Given the description of an element on the screen output the (x, y) to click on. 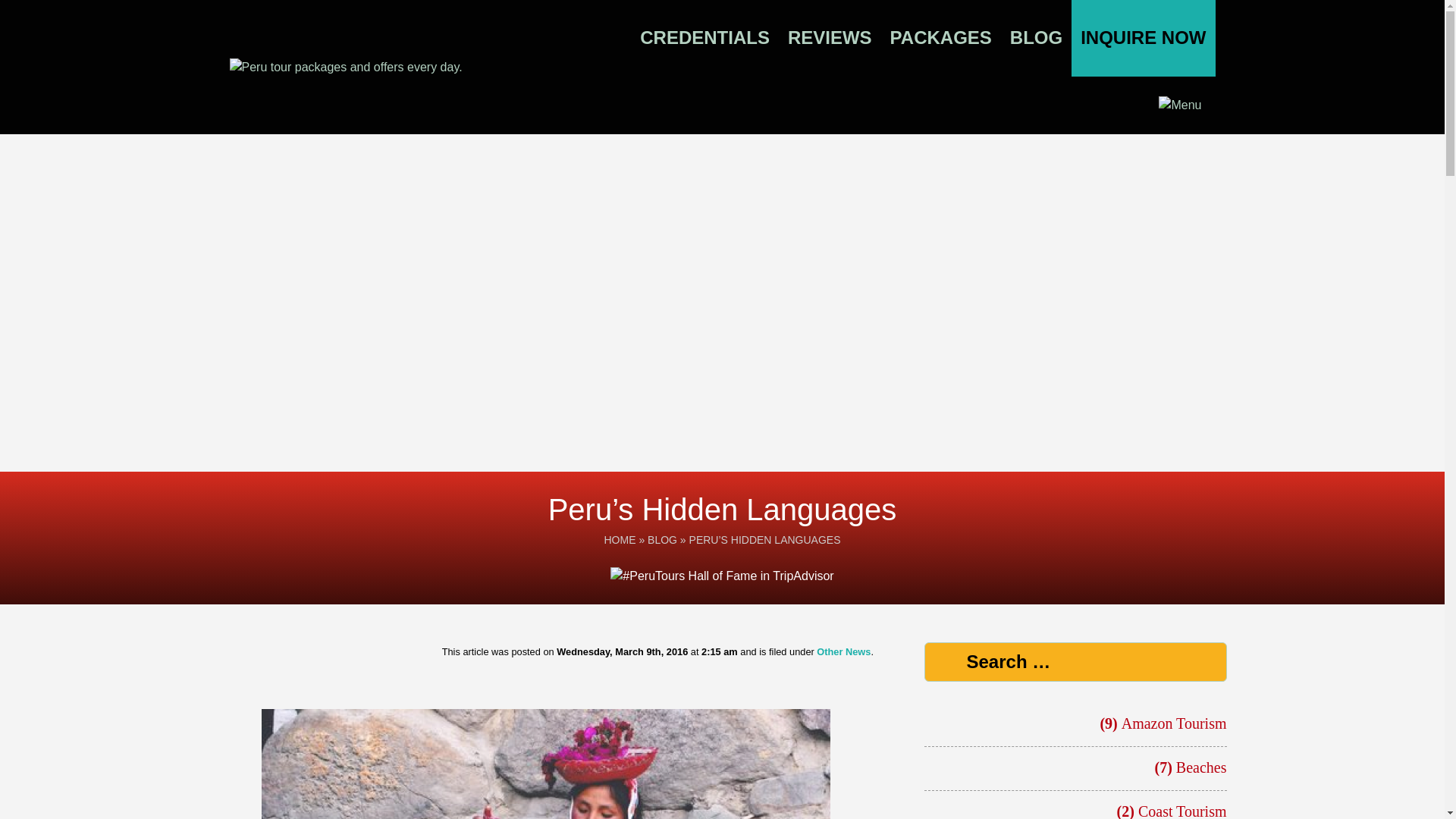
INQUIRE NOW (1142, 38)
Search (125, 14)
BLOG (1036, 38)
REVIEWS (829, 38)
CREDENTIALS (705, 38)
HOME (619, 539)
View all posts in Amazon Tourism category (1174, 723)
PACKAGES (940, 38)
Best Peru Tours (400, 66)
View all posts in Beaches category (1201, 767)
View all posts in Coast Tourism category (1182, 811)
